Given the description of an element on the screen output the (x, y) to click on. 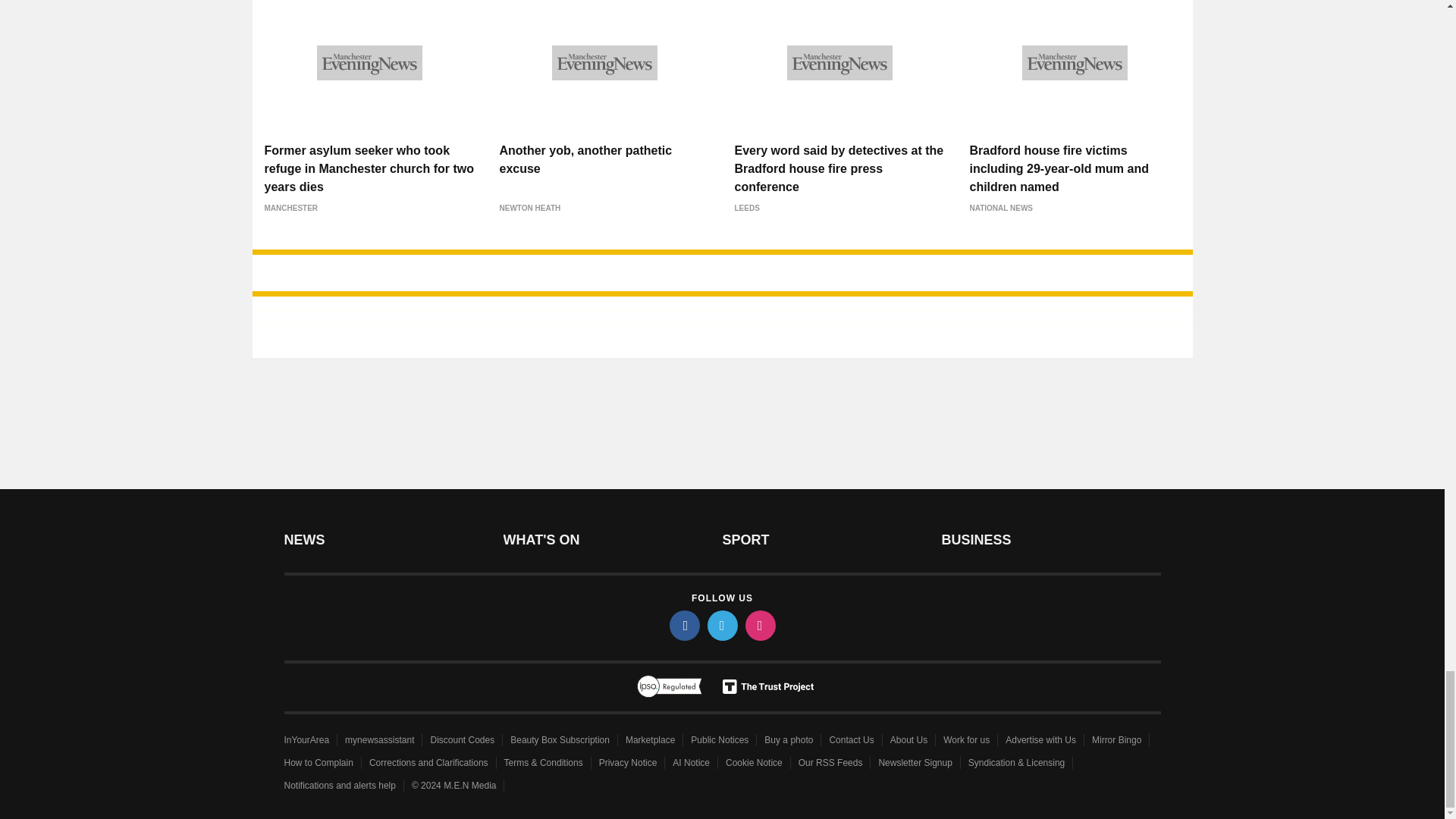
facebook (683, 625)
twitter (721, 625)
instagram (759, 625)
